Given the description of an element on the screen output the (x, y) to click on. 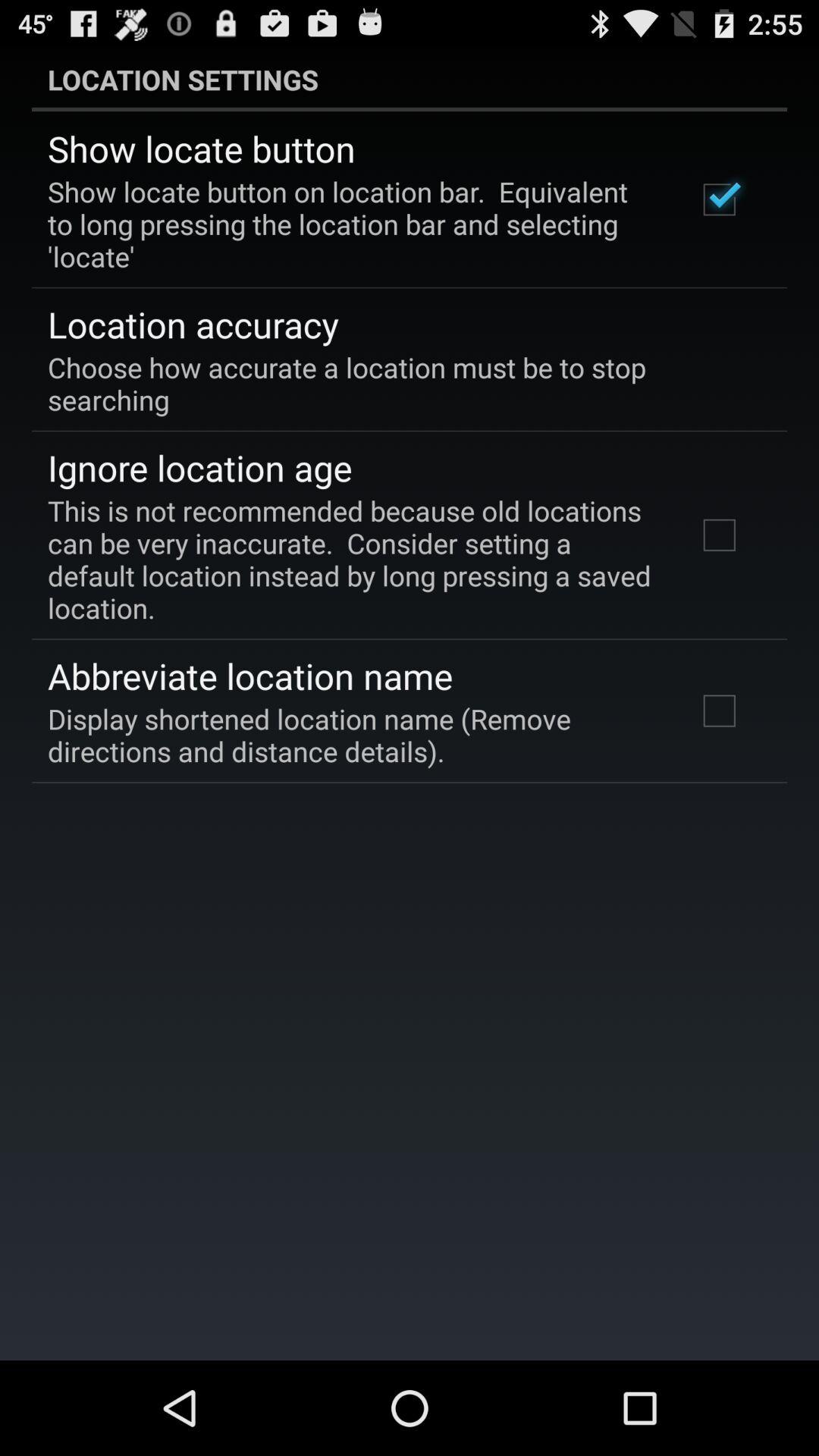
select ignore location age icon (199, 467)
